Given the description of an element on the screen output the (x, y) to click on. 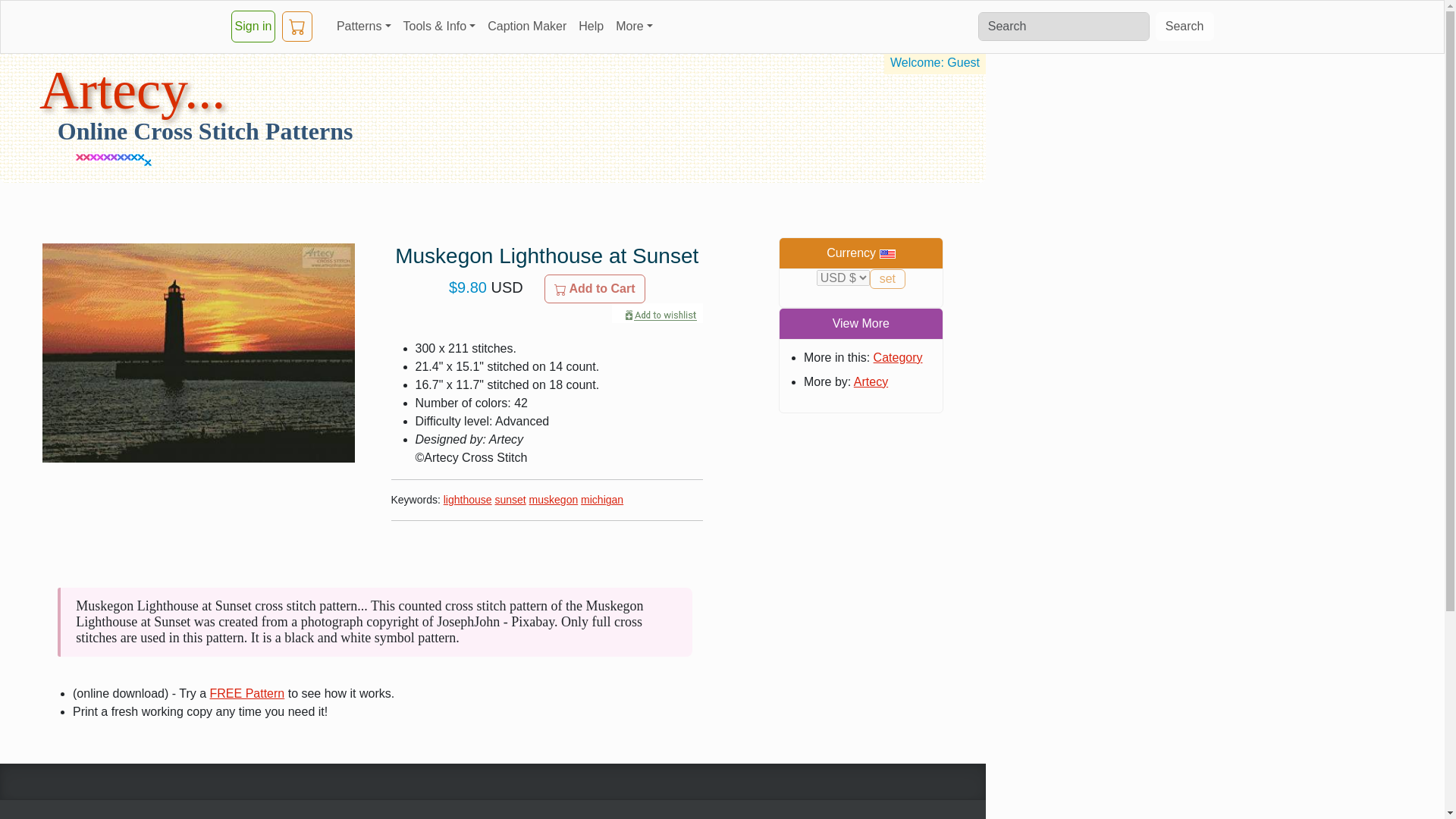
lighthouse (468, 499)
Category (898, 357)
michigan (601, 499)
set (887, 279)
Add to Cart (594, 288)
Muskegon Lighthouse at Sunset (198, 352)
Caption Maker (526, 26)
Help (591, 26)
Patterns (363, 26)
set (887, 279)
FREE Pattern (247, 693)
More (634, 26)
View Cart (297, 26)
Artecy (870, 381)
Search (1185, 26)
